Given the description of an element on the screen output the (x, y) to click on. 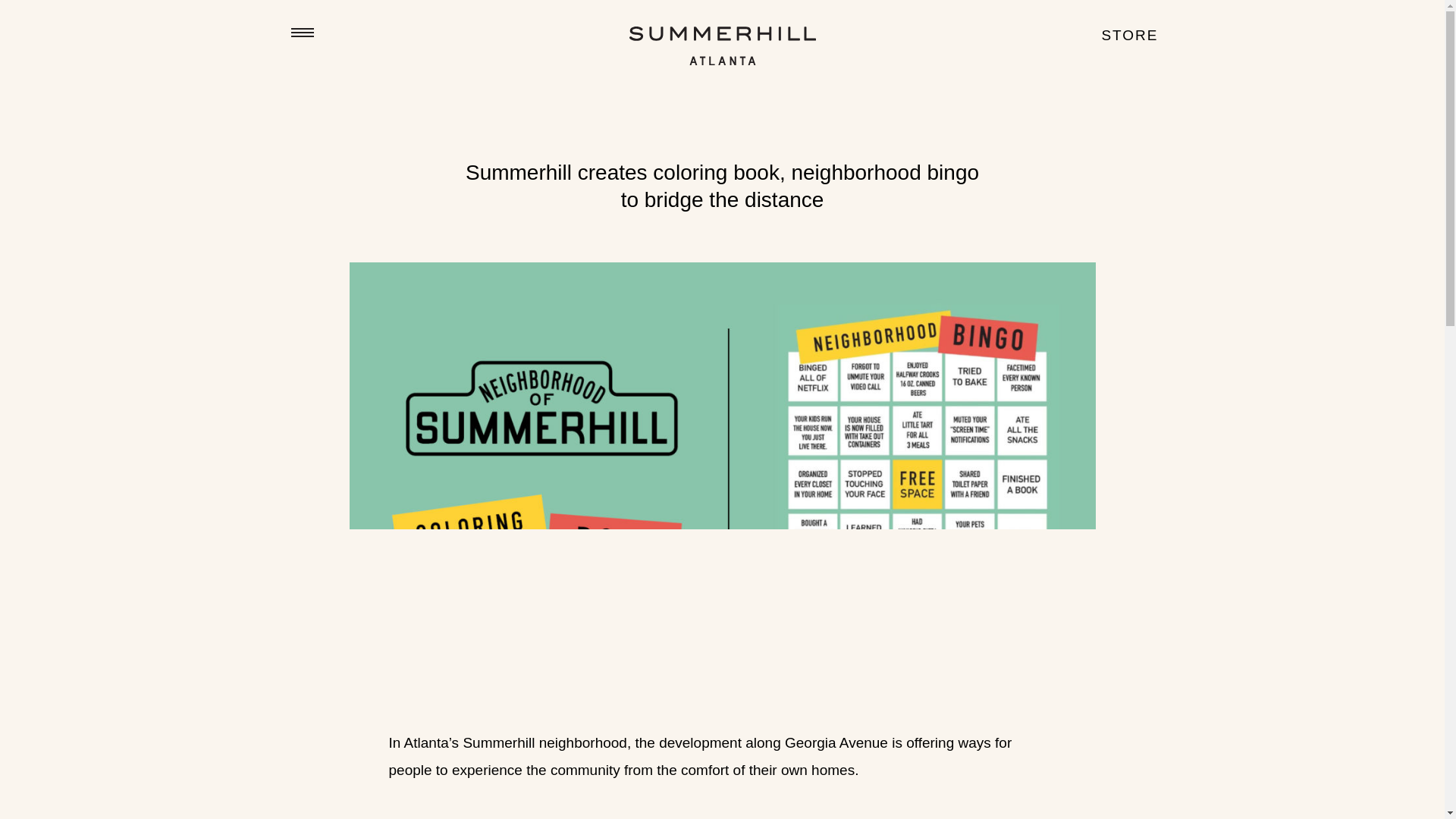
STORE (1128, 35)
inline-logo (721, 59)
inline-logo (721, 45)
